Given the description of an element on the screen output the (x, y) to click on. 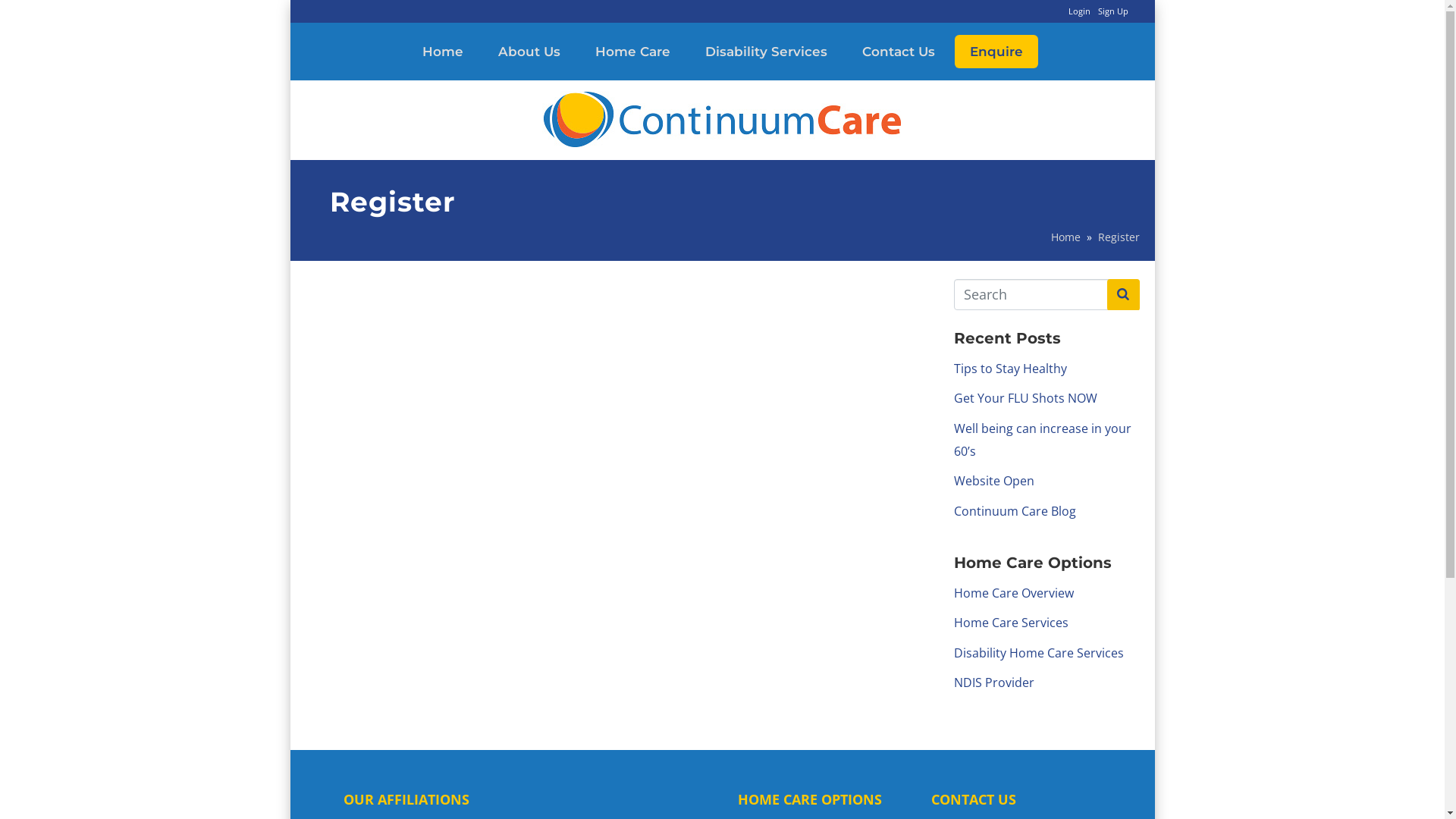
Home Care Overview Element type: text (1013, 592)
Login Element type: text (1078, 11)
Sign Up Element type: text (1113, 11)
Get Your FLU Shots NOW Element type: text (1025, 397)
NDIS Provider Element type: text (993, 682)
Disability Home Care Services Element type: text (1038, 652)
Continuum Care Blog Element type: text (1014, 510)
Tips to Stay Healthy Element type: text (1009, 368)
Home Care Services Element type: text (1010, 622)
Disability Services Element type: text (766, 51)
Home Care Element type: text (631, 51)
Enquire Element type: text (995, 51)
Home Element type: text (441, 51)
Home Element type: text (1065, 236)
Contact Us Element type: text (897, 51)
Website Open Element type: text (993, 480)
About Us Element type: text (528, 51)
